Given the description of an element on the screen output the (x, y) to click on. 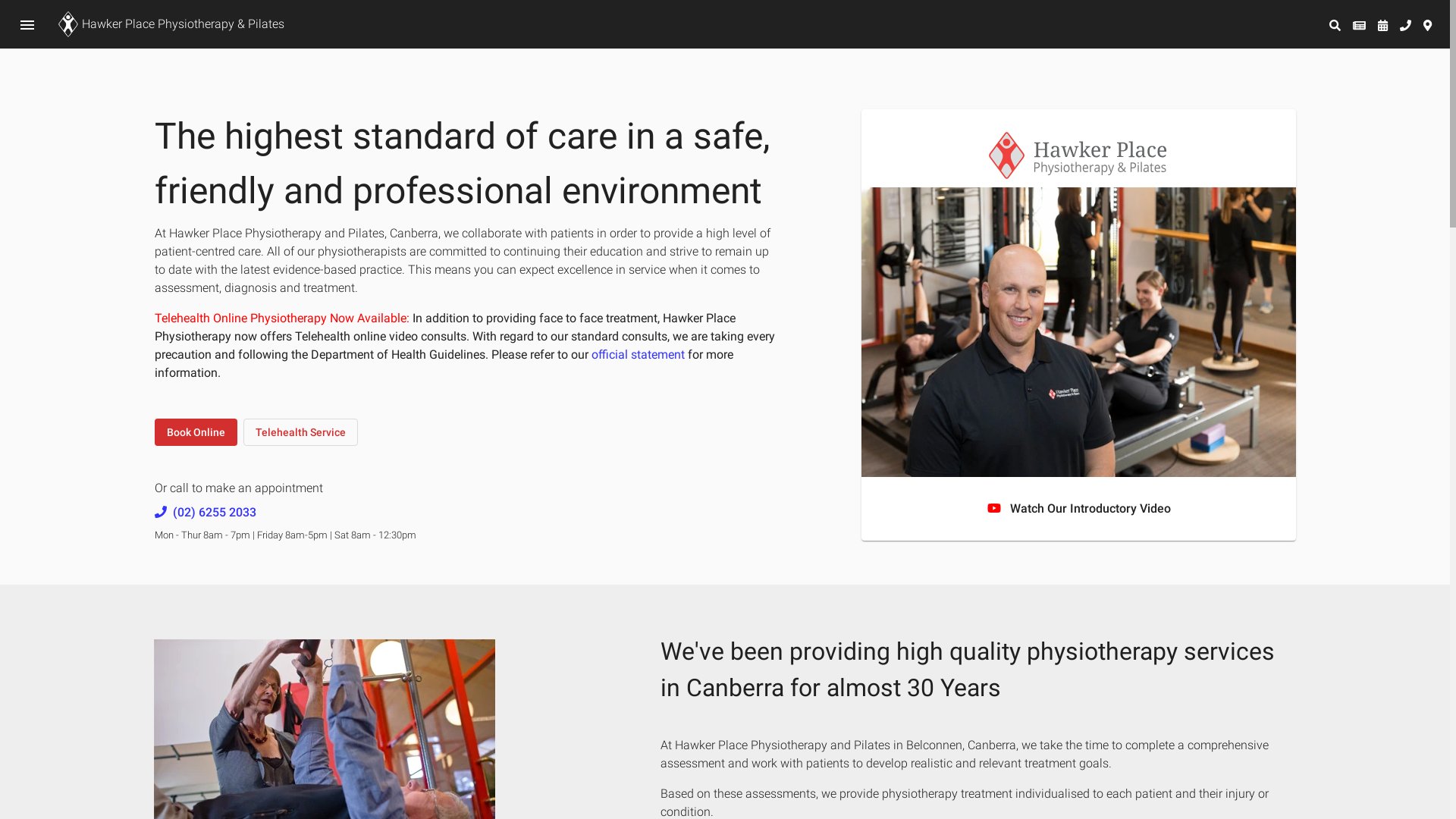
official statement Element type: text (639, 354)
Book Online Element type: text (195, 431)
(02) 6255 2033 Element type: text (214, 512)
menu Element type: text (27, 24)
Telehealth Service Element type: text (300, 431)
Watch Our Introductory Video Element type: text (1079, 509)
Hawker Place Physiotherapy & Pilates Element type: text (169, 23)
